Given the description of an element on the screen output the (x, y) to click on. 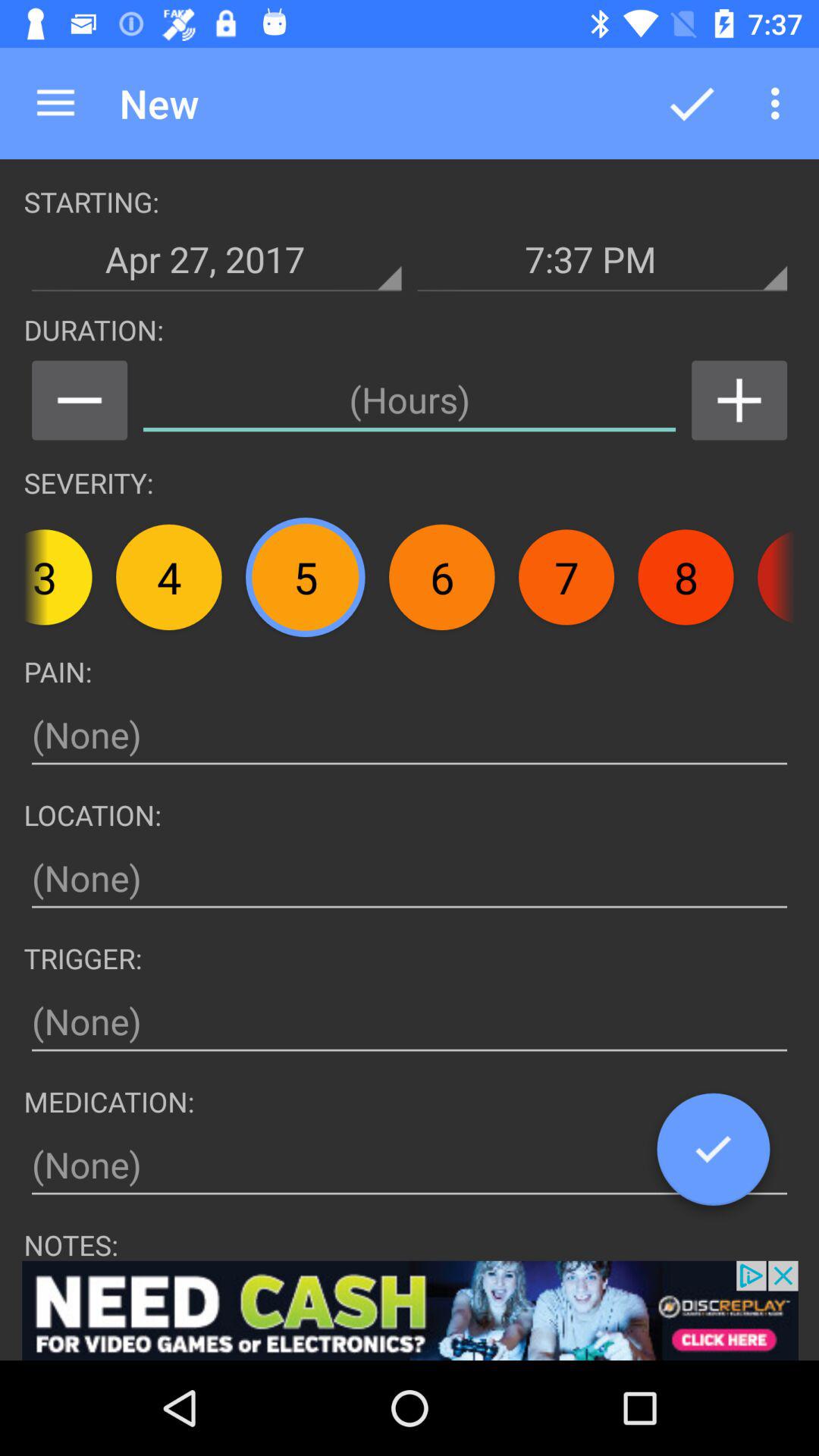
add option (409, 1310)
